Given the description of an element on the screen output the (x, y) to click on. 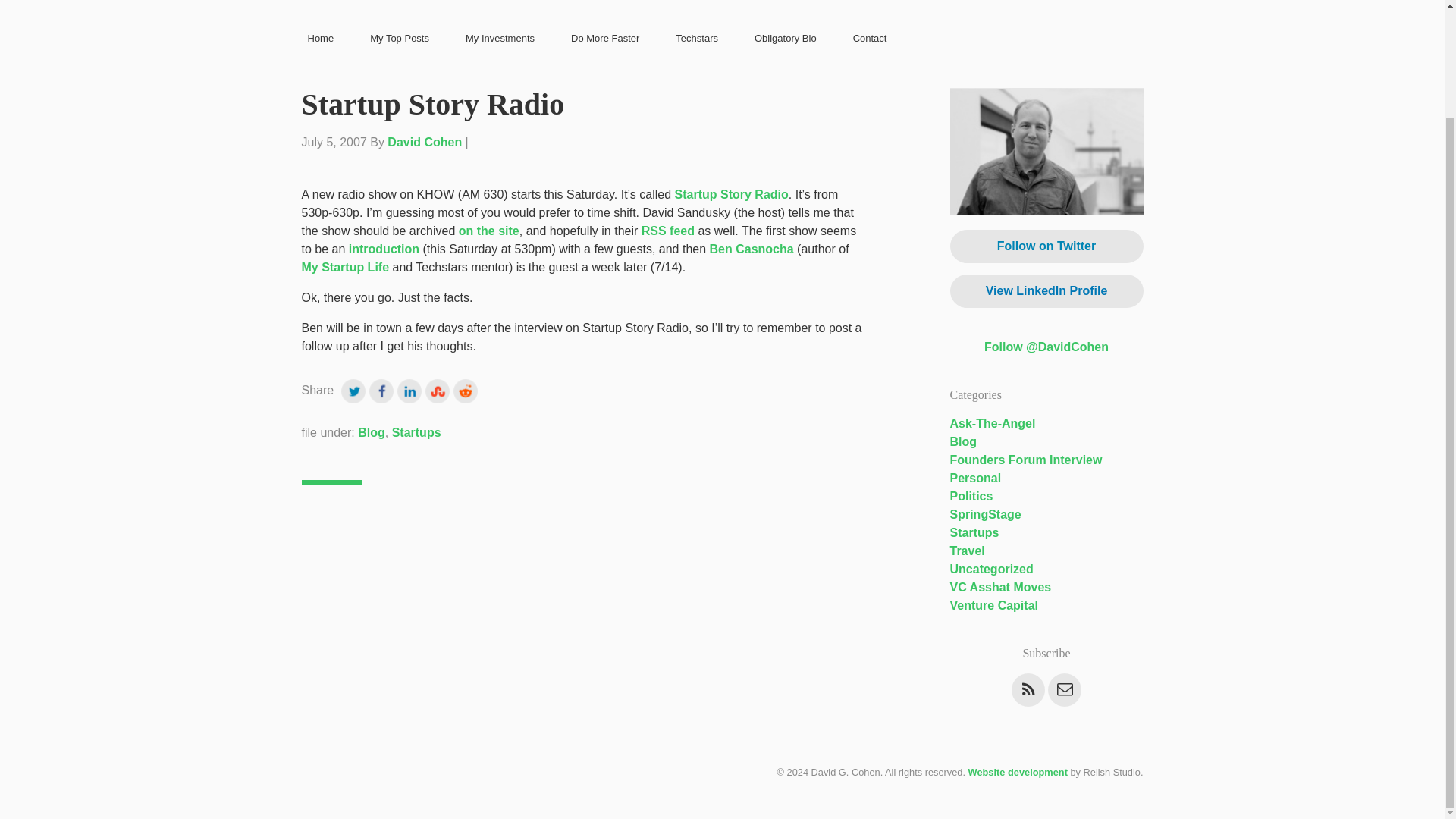
Blog (371, 431)
View LinkedIn Profile (1045, 290)
Follow on Twitter (1045, 246)
Travel (966, 550)
VC Asshat Moves (1000, 586)
Blog (962, 440)
Startups (416, 431)
Ask-The-Angel (992, 422)
Home (320, 38)
Facebook (383, 389)
My Startup Life (345, 267)
Personal (975, 477)
Twitter (354, 389)
Linkedin (411, 389)
Uncategorized (990, 568)
